Given the description of an element on the screen output the (x, y) to click on. 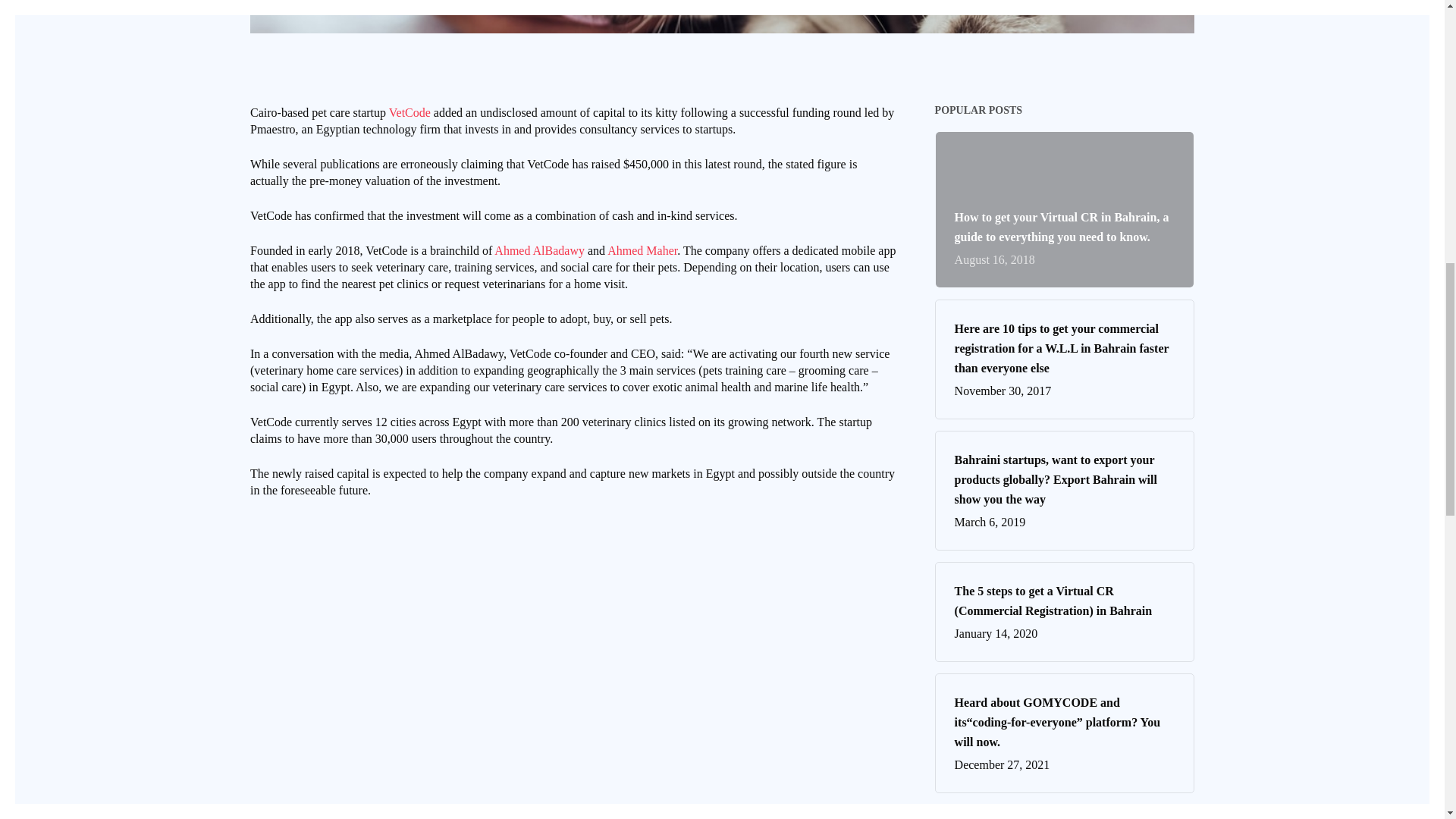
Ahmed AlBadawy (540, 250)
Ahmed Maher (642, 250)
VetCode (409, 112)
